Given the description of an element on the screen output the (x, y) to click on. 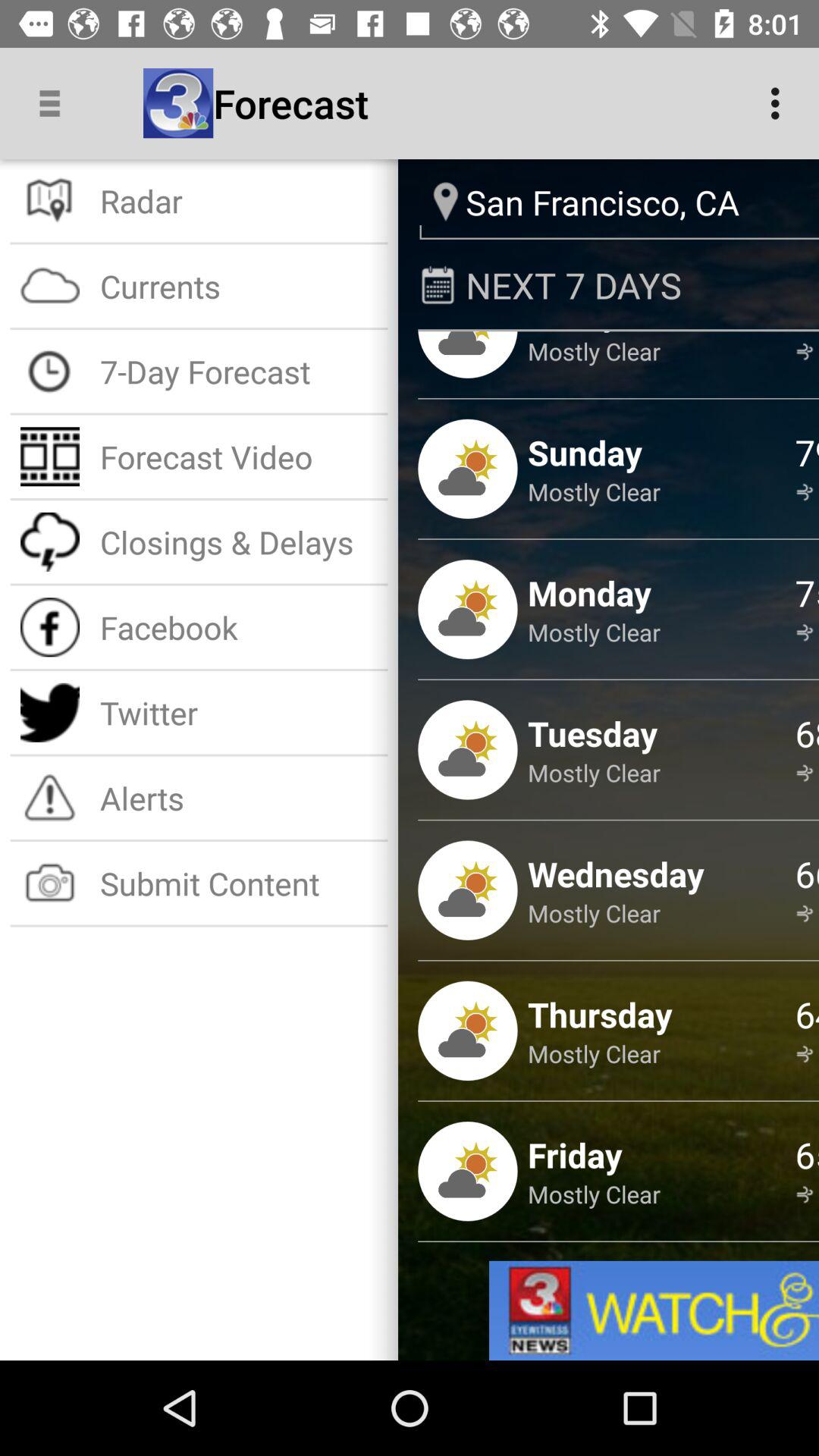
tap 14 mph ssw icon (807, 1054)
